Given the description of an element on the screen output the (x, y) to click on. 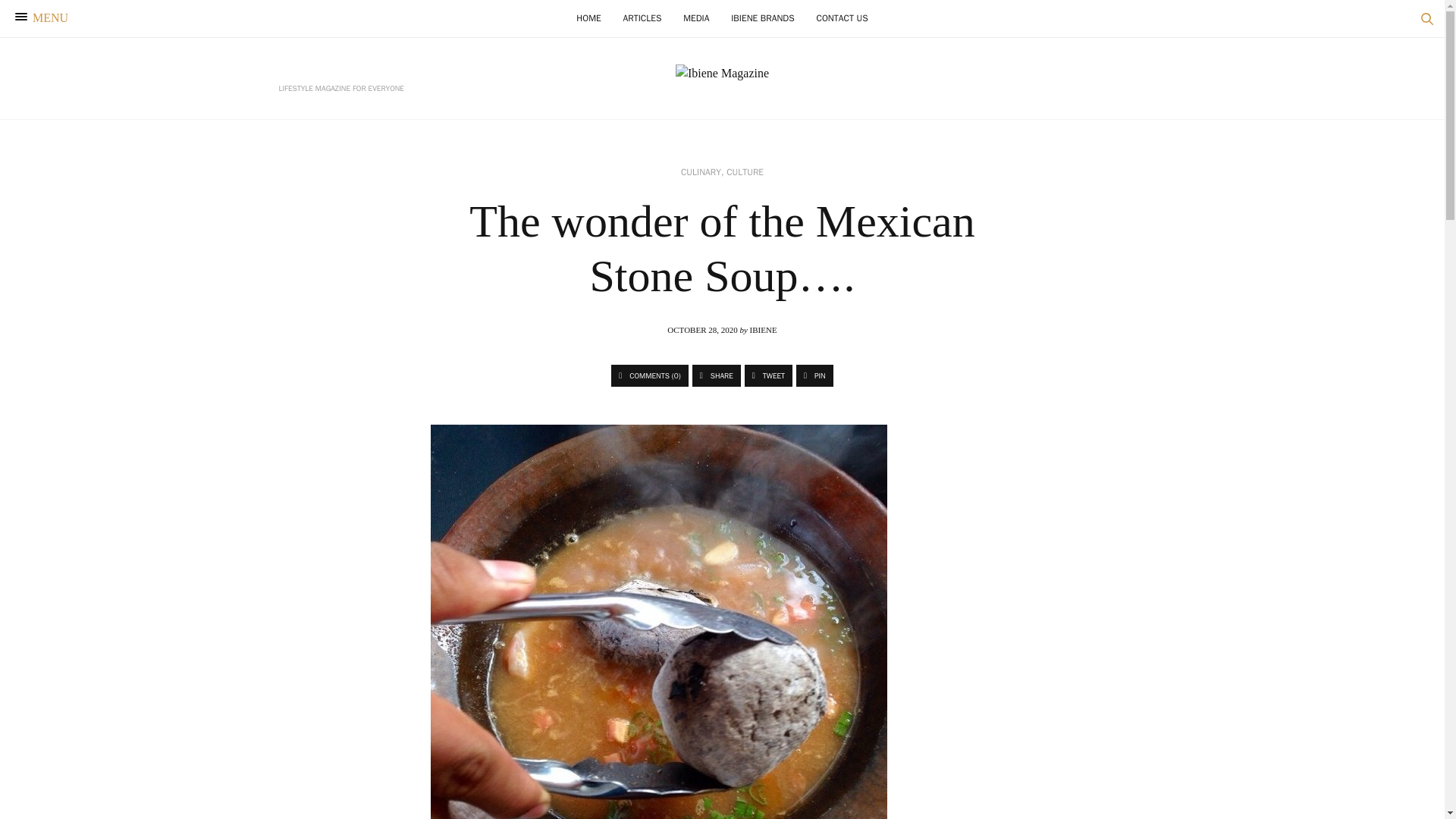
CULINARY (700, 172)
TWEET (768, 375)
HOME (588, 18)
SHARE (717, 375)
MEDIA (695, 18)
Posts by Ibiene (763, 329)
PIN (814, 375)
IBIENE (763, 329)
IBIENE BRANDS (762, 18)
COMMENTS (649, 375)
